Given the description of an element on the screen output the (x, y) to click on. 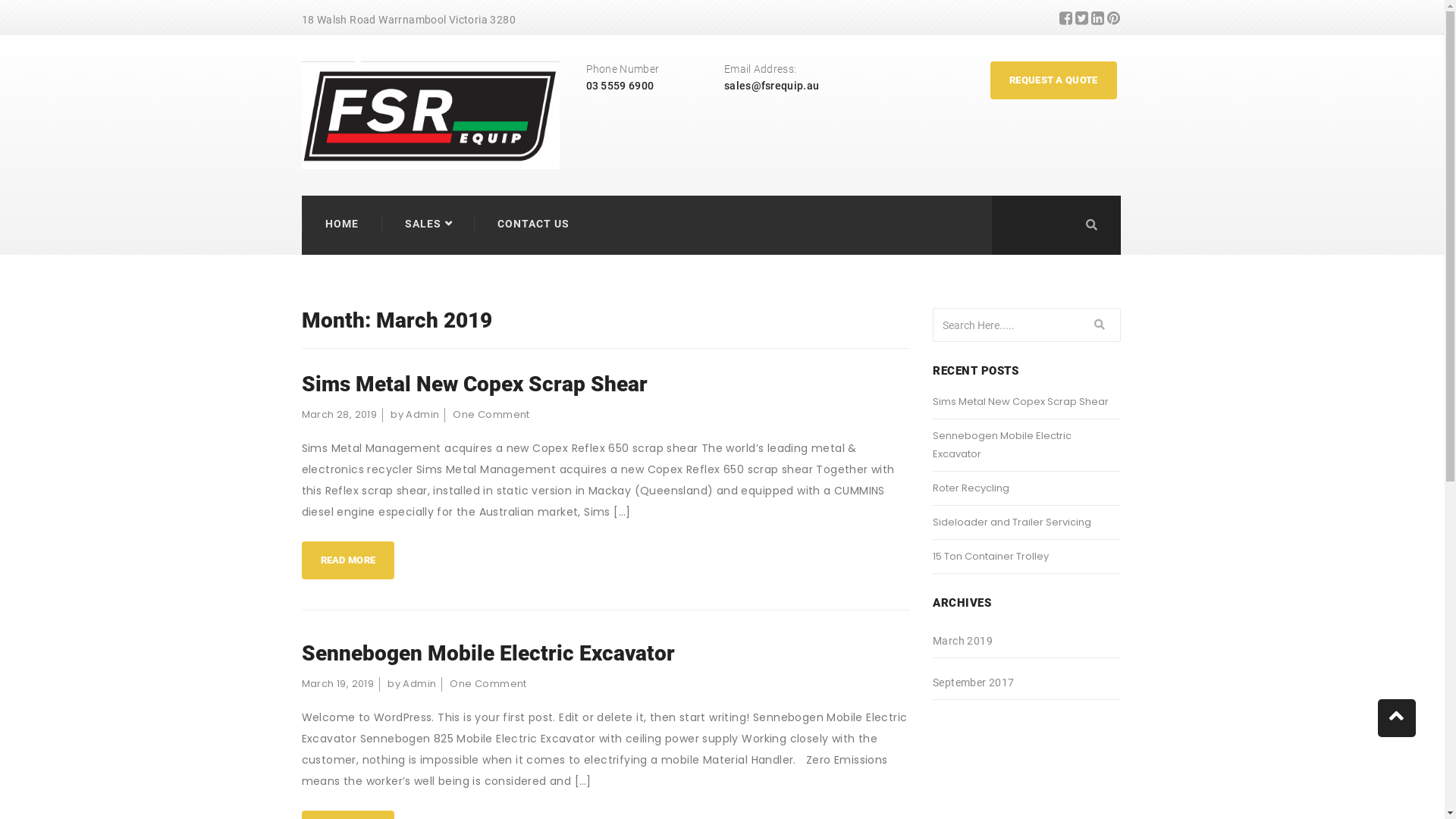
HOME Element type: text (341, 223)
March 2019 Element type: text (962, 640)
by Admin Element type: text (414, 414)
Roter Recycling Element type: text (1026, 492)
03 5559 6900 Element type: text (619, 85)
REQUEST A QUOTE Element type: text (1053, 80)
Sennebogen Mobile Electric Excavator Element type: text (1026, 448)
Sennebogen Mobile Electric Excavator Element type: text (605, 653)
One Comment Element type: text (490, 414)
One Comment Element type: text (487, 683)
15 Ton Container Trolley Element type: text (1026, 560)
March 19, 2019 Element type: text (337, 683)
Sims Metal New Copex Scrap Shear Element type: text (1026, 405)
March 28, 2019 Element type: text (339, 414)
Go to top Element type: hover (1396, 718)
SALES Element type: text (417, 223)
READ MORE Element type: text (348, 560)
September 2017 Element type: text (973, 682)
Sims Metal New Copex Scrap Shear Element type: text (605, 384)
sales@fsrequip.au Element type: text (771, 85)
CONTACT US Element type: text (532, 223)
Sideloader and Trailer Servicing Element type: text (1026, 526)
by Admin Element type: text (411, 683)
